Given the description of an element on the screen output the (x, y) to click on. 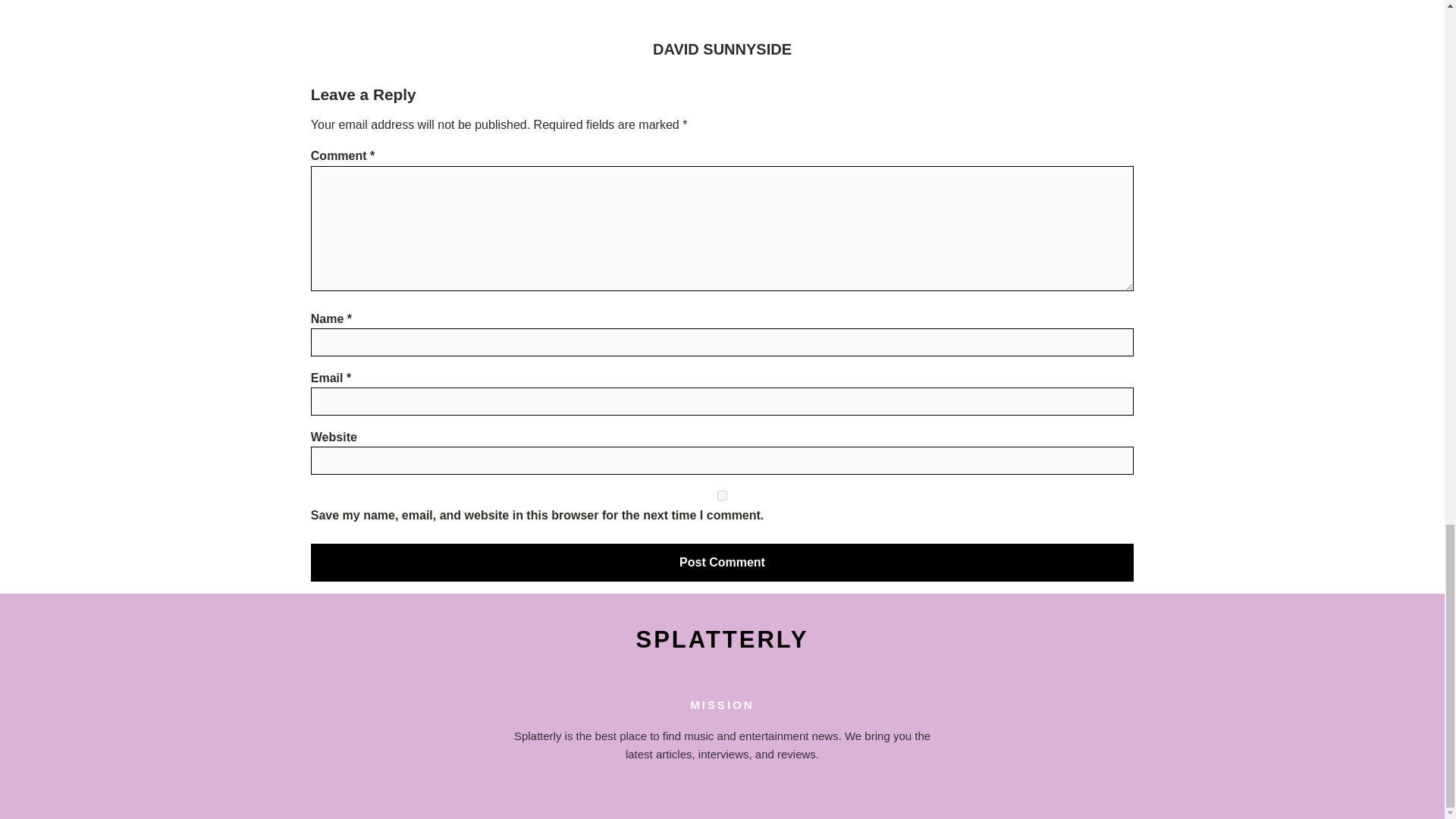
Post Comment (722, 562)
yes (722, 495)
SPLATTERLY (721, 639)
Post Comment (722, 562)
